Given the description of an element on the screen output the (x, y) to click on. 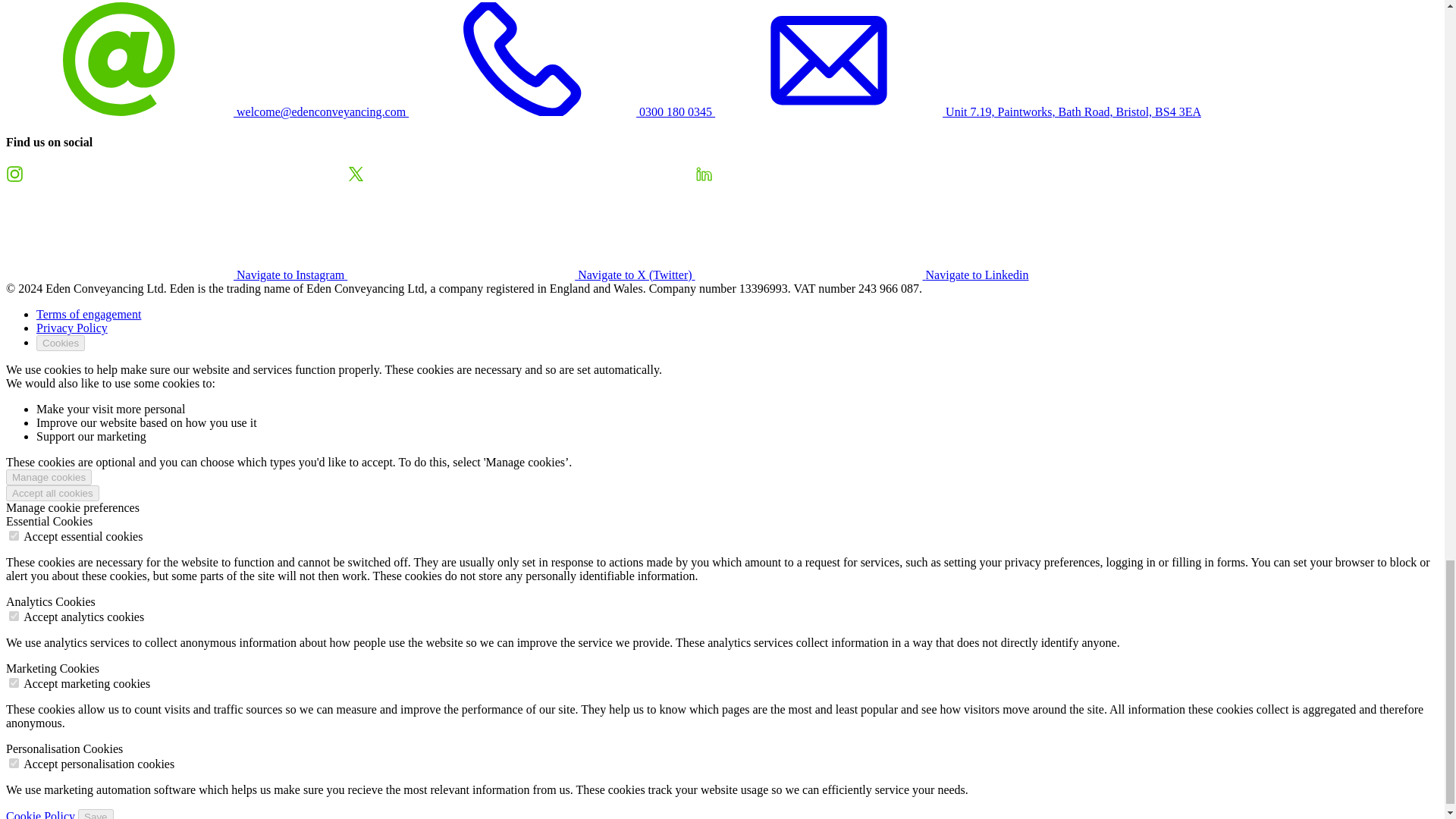
Terms of engagement (88, 314)
Cookies (60, 342)
Unit 7.19, Paintworks, Bath Road, Bristol, BS4 3EA (957, 111)
on (13, 615)
Accept all cookies (52, 493)
on (13, 682)
Navigate to Linkedin (862, 274)
Privacy Policy (71, 327)
on (13, 535)
Navigate to Instagram (176, 274)
